Given the description of an element on the screen output the (x, y) to click on. 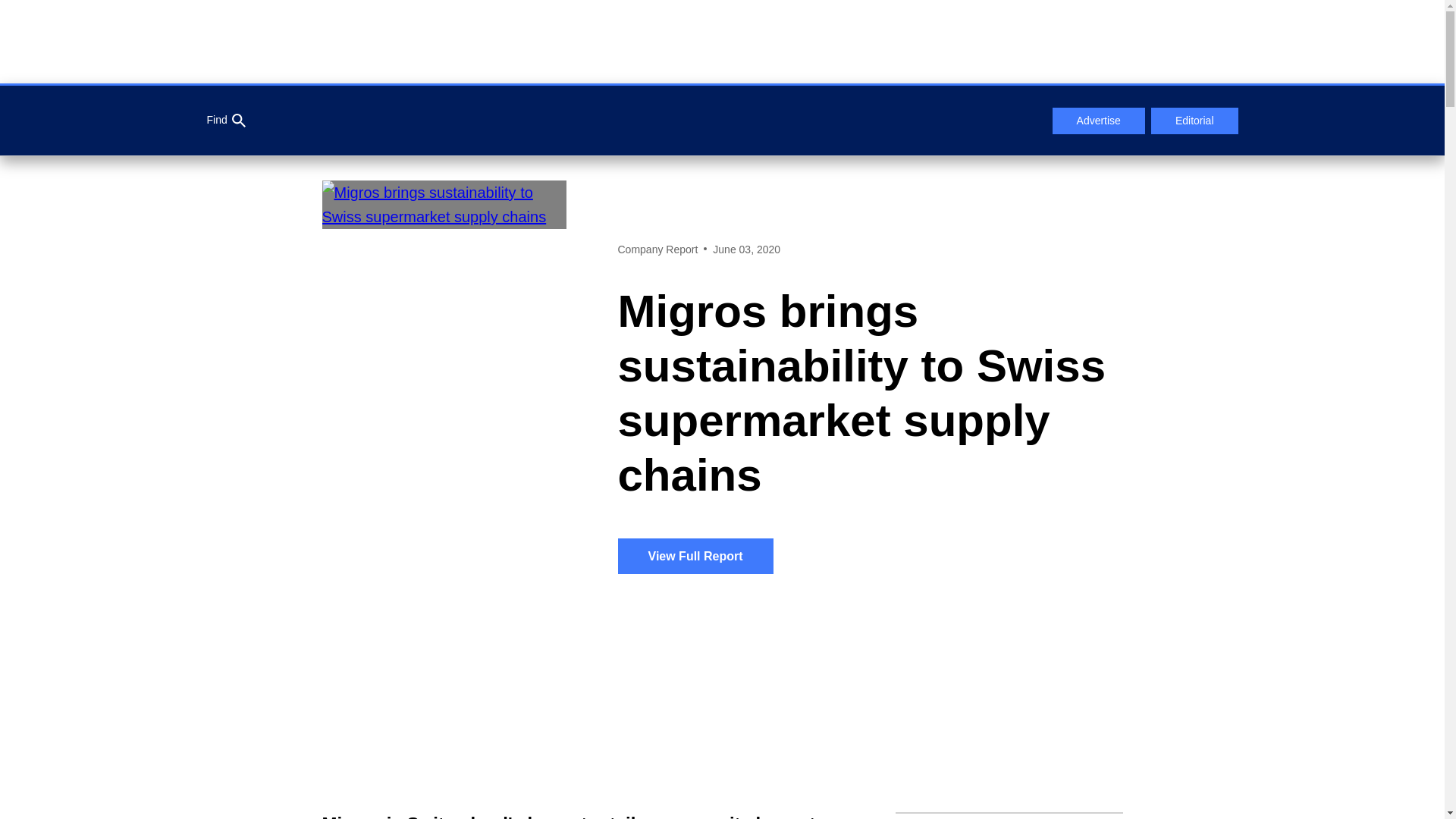
Find (225, 120)
Advertise (1098, 121)
Editorial (1195, 121)
View Full Report (695, 556)
